Given the description of an element on the screen output the (x, y) to click on. 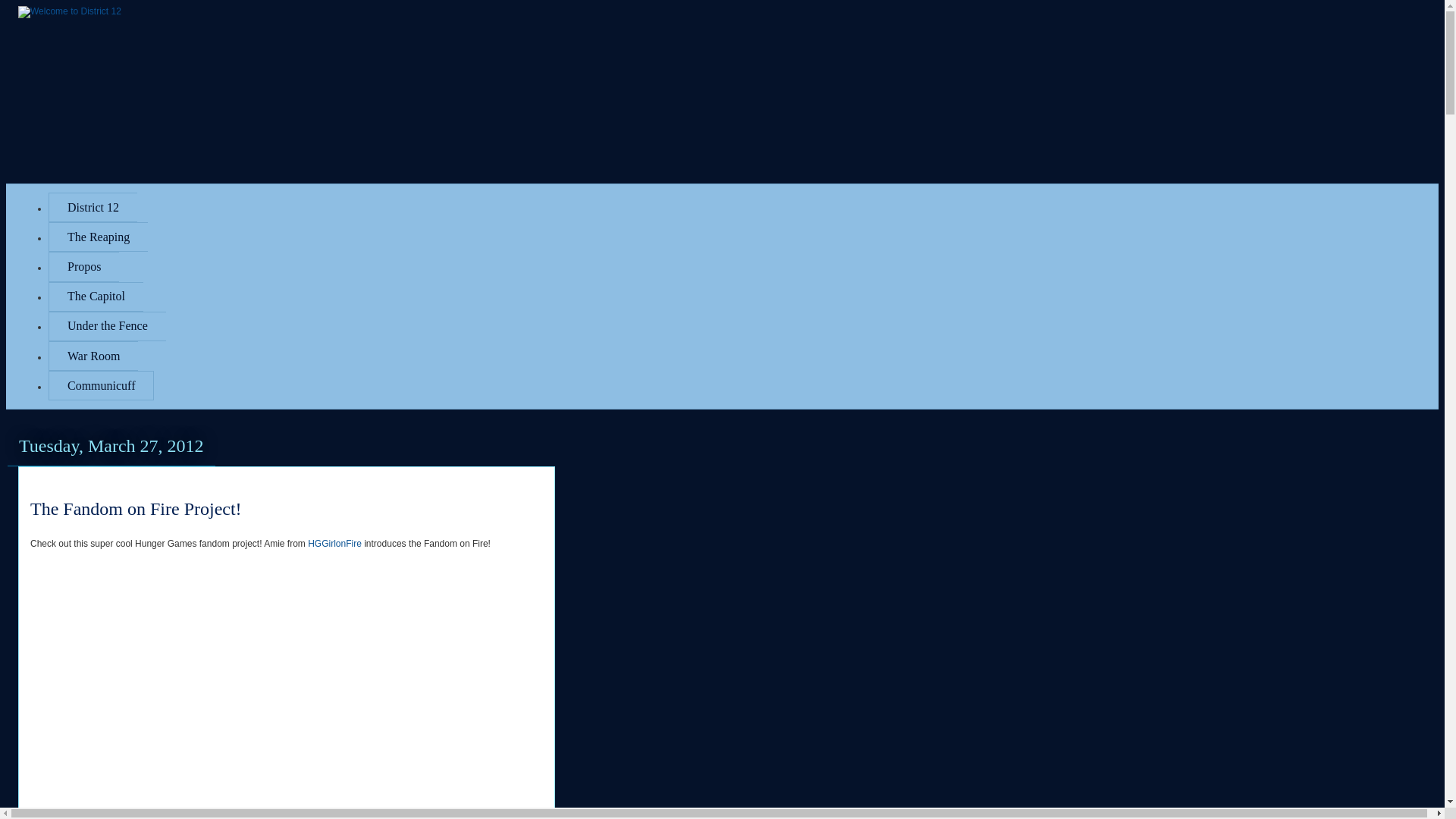
The Capitol (95, 296)
Propos (83, 266)
The Reaping (98, 236)
HGGirlonFire (334, 543)
Communicuff (101, 385)
District 12 (92, 206)
War Room (93, 356)
Under the Fence (106, 326)
